Given the description of an element on the screen output the (x, y) to click on. 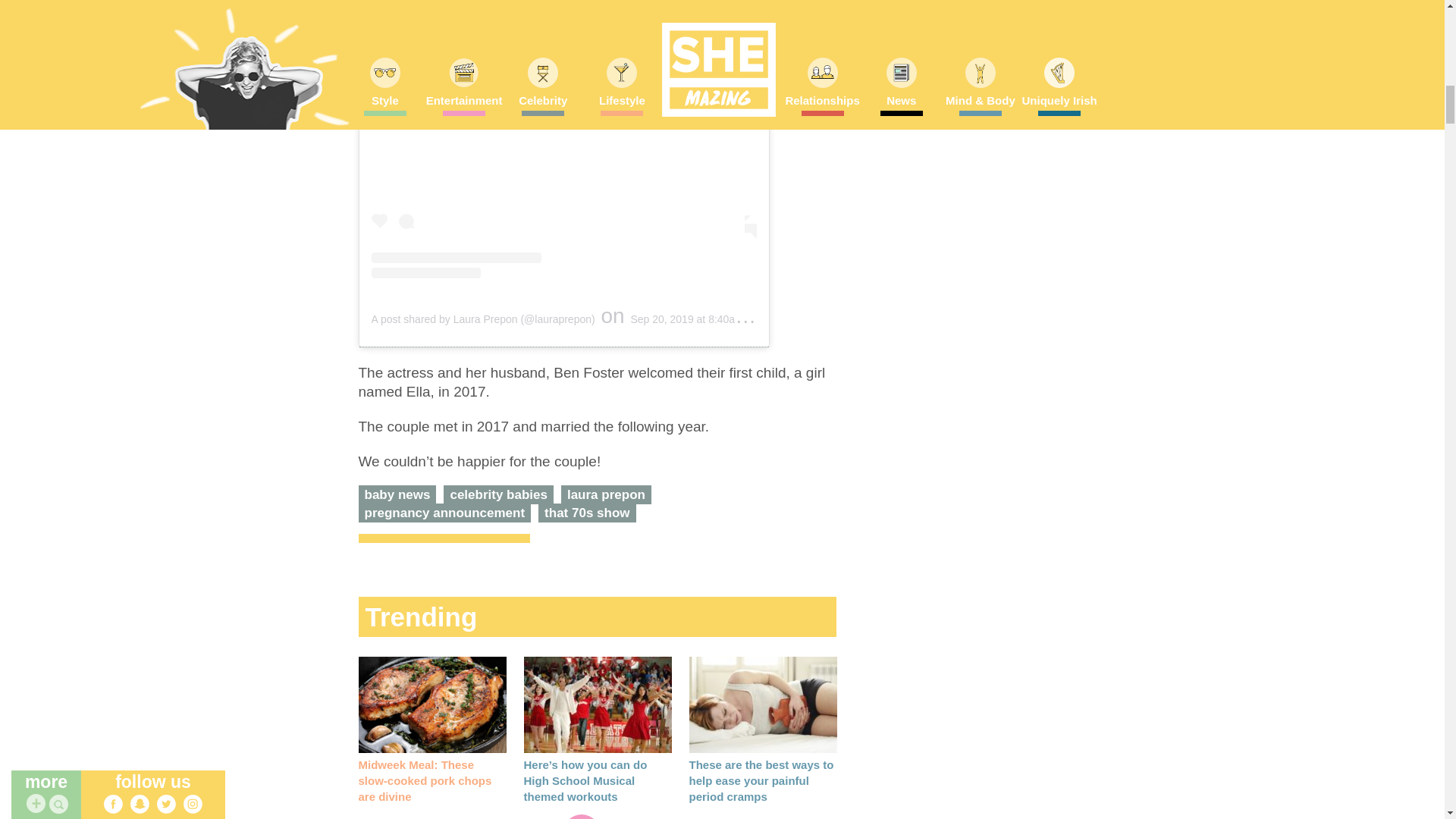
Midweek Meal: These slow-cooked pork chops are divine (425, 780)
Midweek Meal: These slow-cooked pork chops are divine (431, 704)
